Given the description of an element on the screen output the (x, y) to click on. 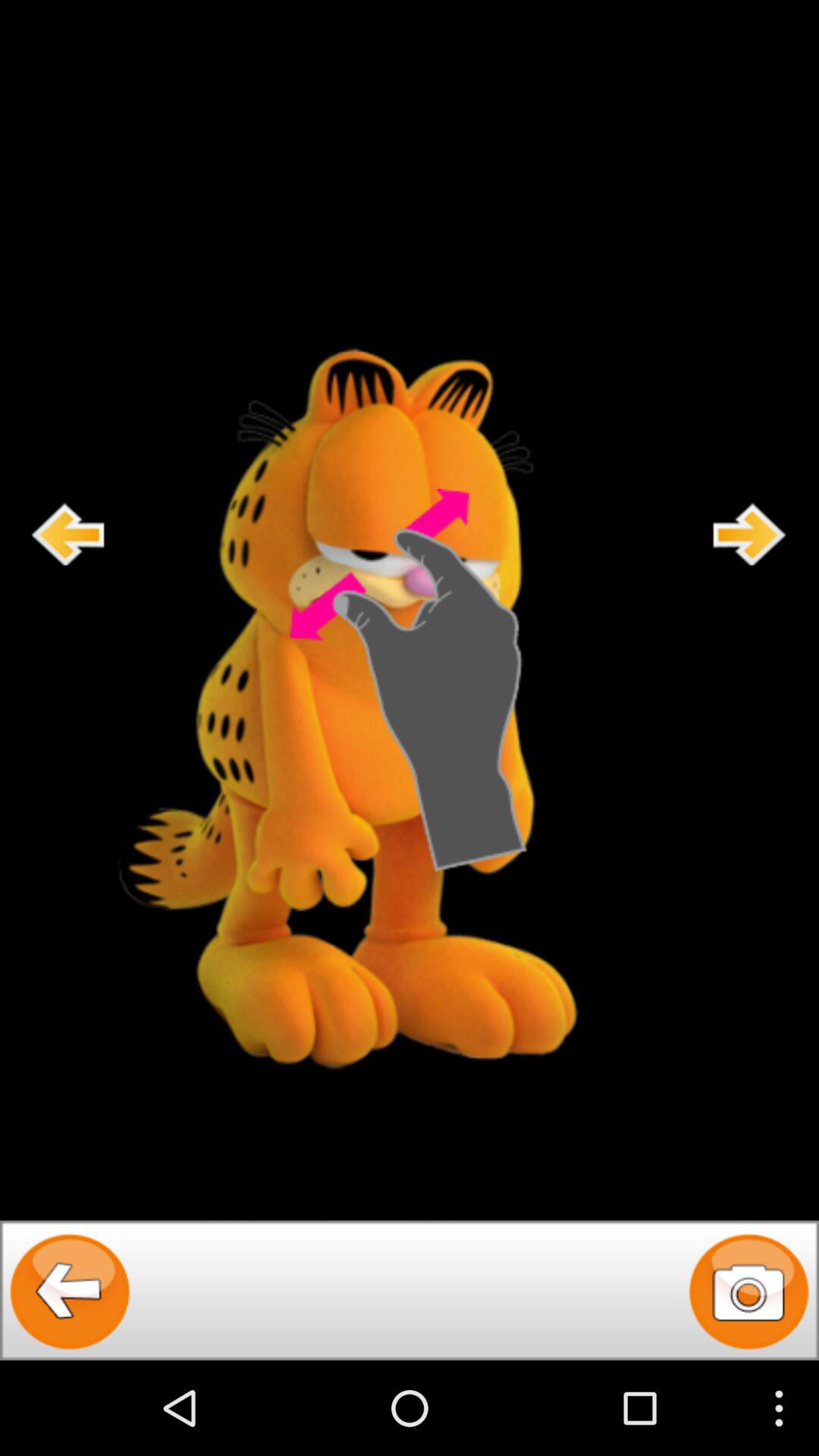
zoom in on garfield (408, 680)
